Given the description of an element on the screen output the (x, y) to click on. 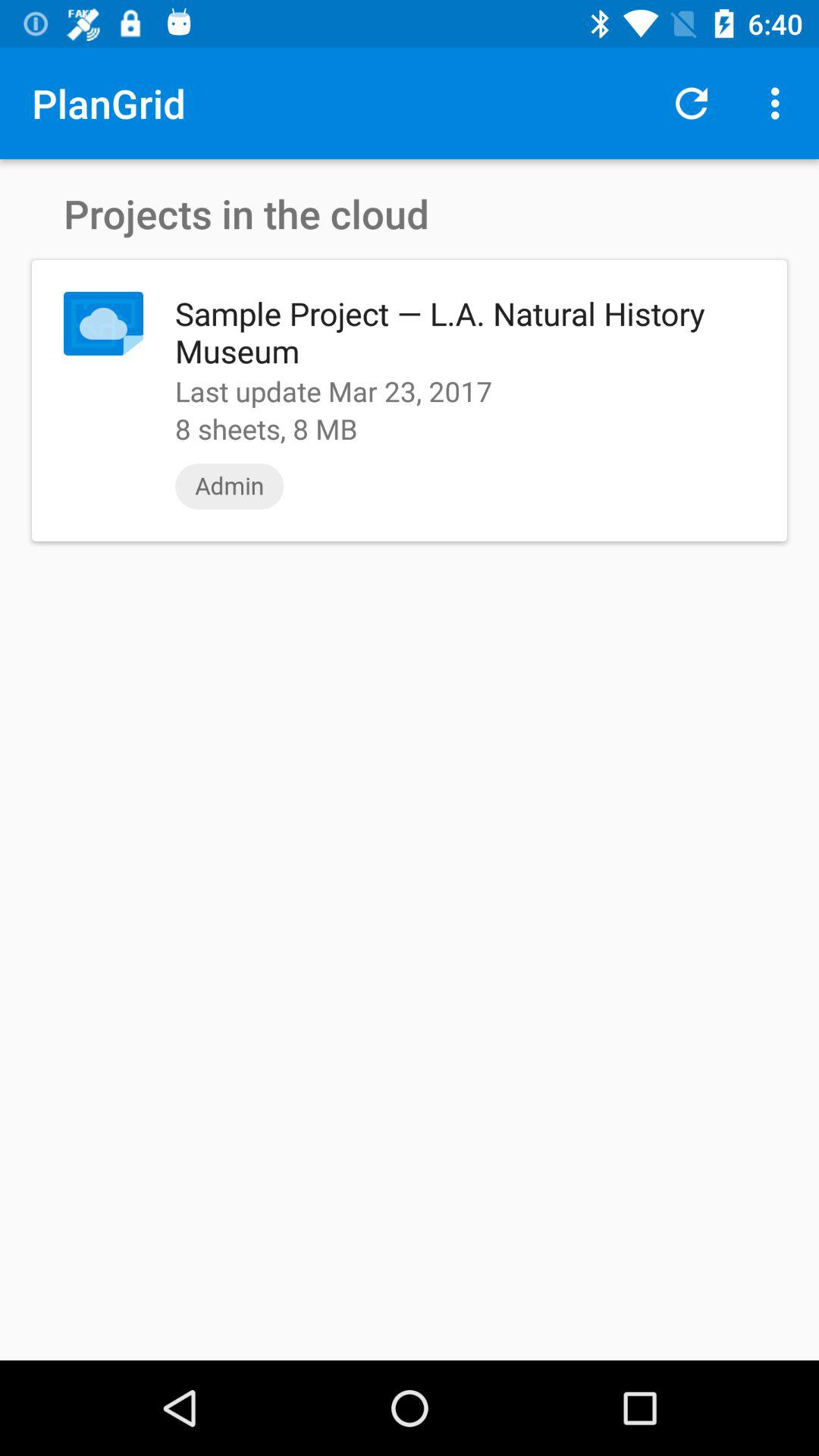
press icon above sample project l item (779, 103)
